Given the description of an element on the screen output the (x, y) to click on. 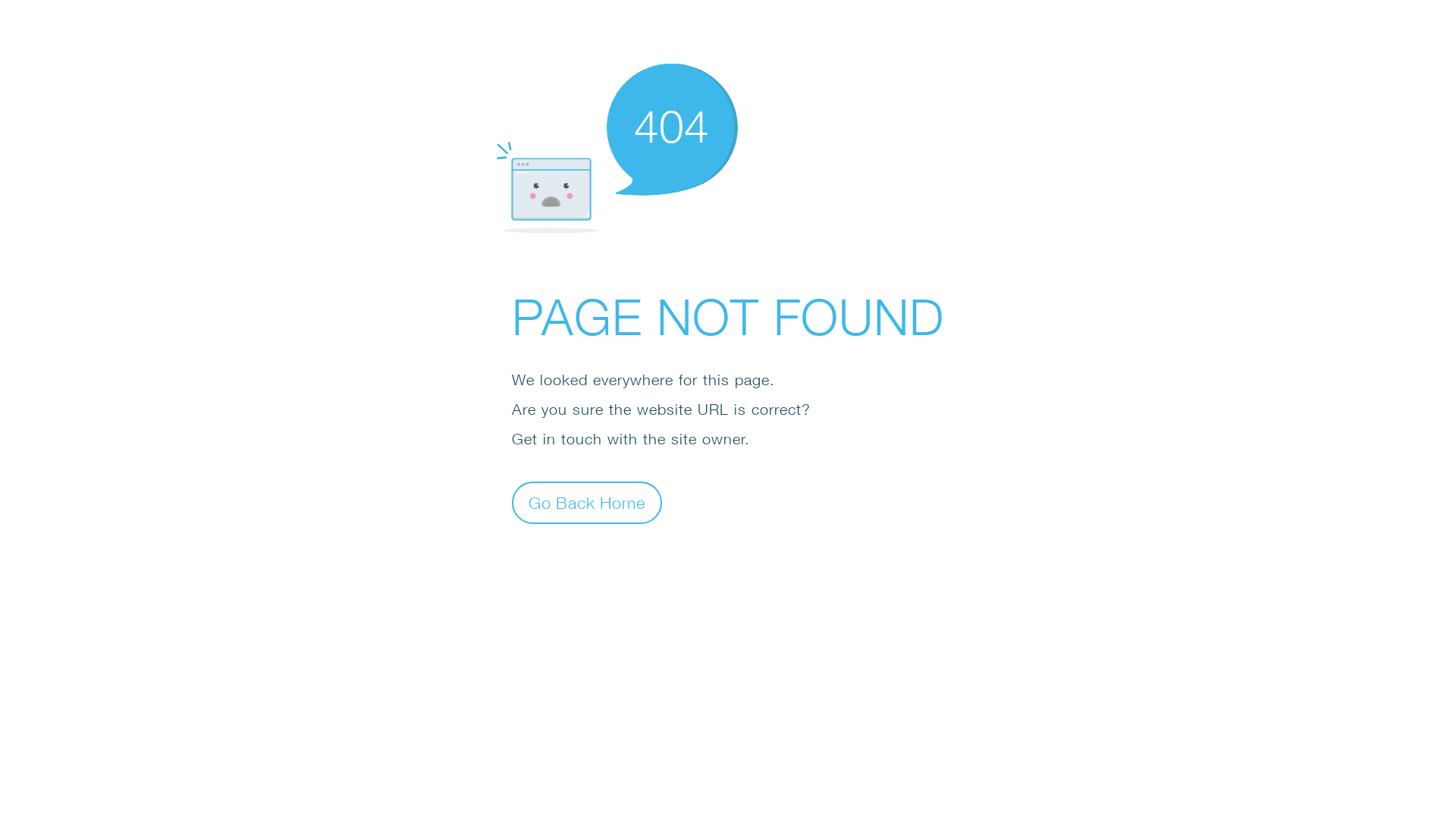
Go Back Home Element type: text (586, 502)
